Given the description of an element on the screen output the (x, y) to click on. 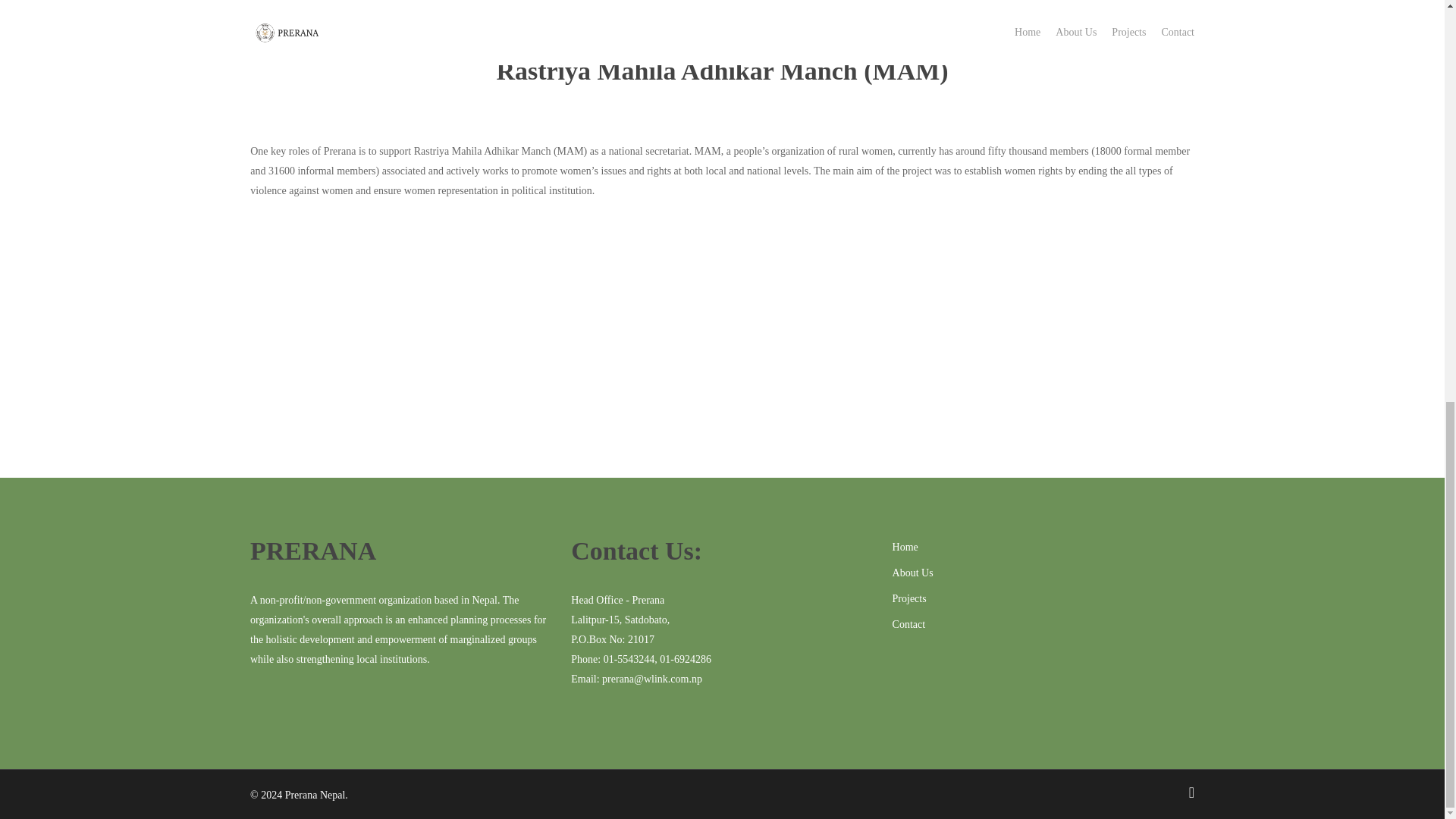
Home (1042, 547)
About Us (1042, 573)
Projects (1042, 598)
Contact (1042, 624)
